Given the description of an element on the screen output the (x, y) to click on. 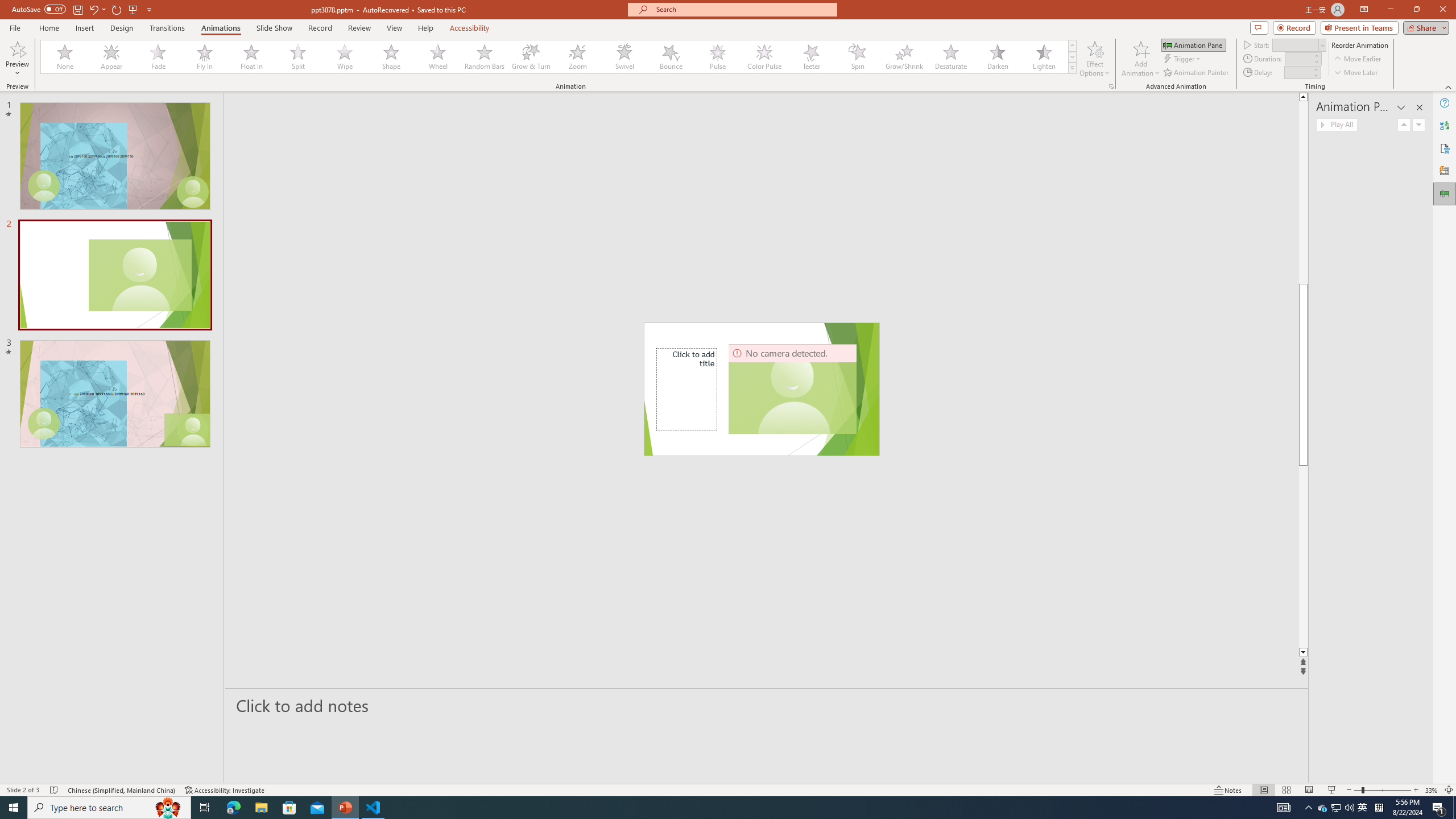
Animation Pane (1193, 44)
Add Animation (1141, 58)
Less (1315, 75)
Move Earlier (1357, 58)
Bounce (670, 56)
Desaturate (950, 56)
